Given the description of an element on the screen output the (x, y) to click on. 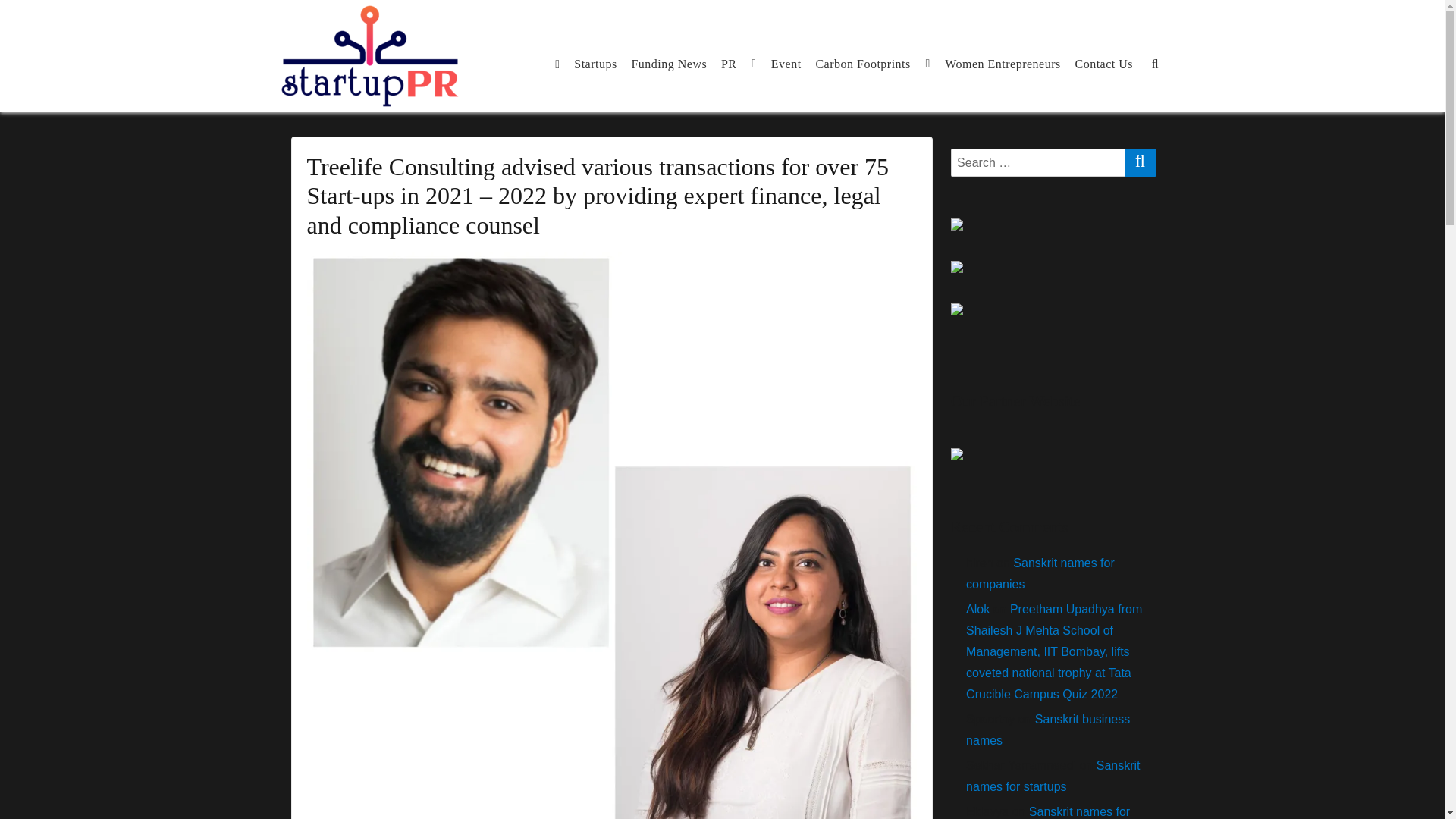
Contact Us (1103, 63)
PR (739, 63)
Funding News (669, 63)
Event (785, 63)
Women Entrepreneurs (1002, 63)
Startups (595, 63)
Carbon Footprints (872, 63)
